Given the description of an element on the screen output the (x, y) to click on. 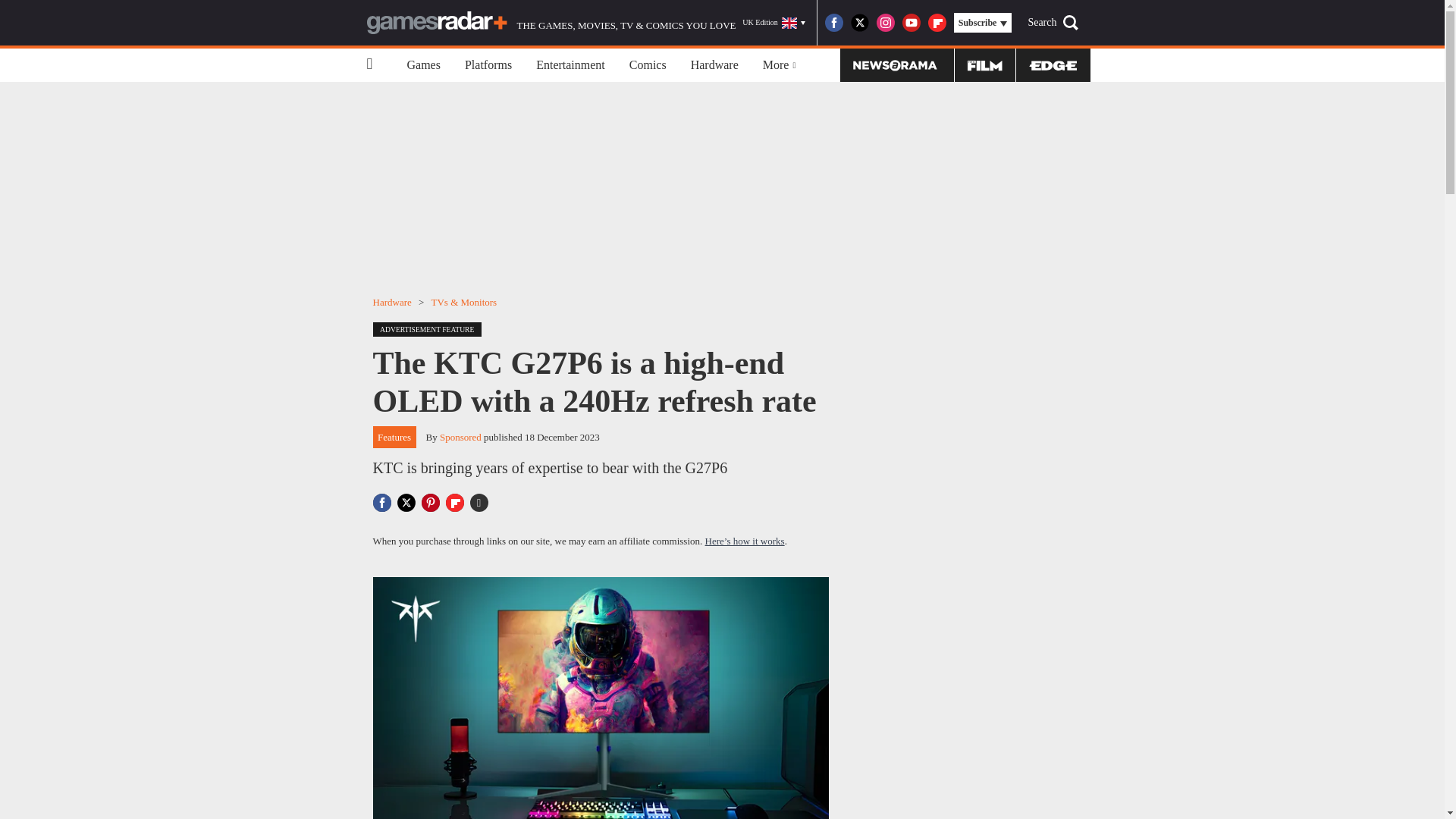
Hardware (714, 64)
Features (394, 436)
Hardware (392, 301)
Entertainment (570, 64)
Comics (647, 64)
Platforms (488, 64)
UK Edition (773, 22)
Games (422, 64)
ADVERTISEMENT FEATURE (430, 327)
